Given the description of an element on the screen output the (x, y) to click on. 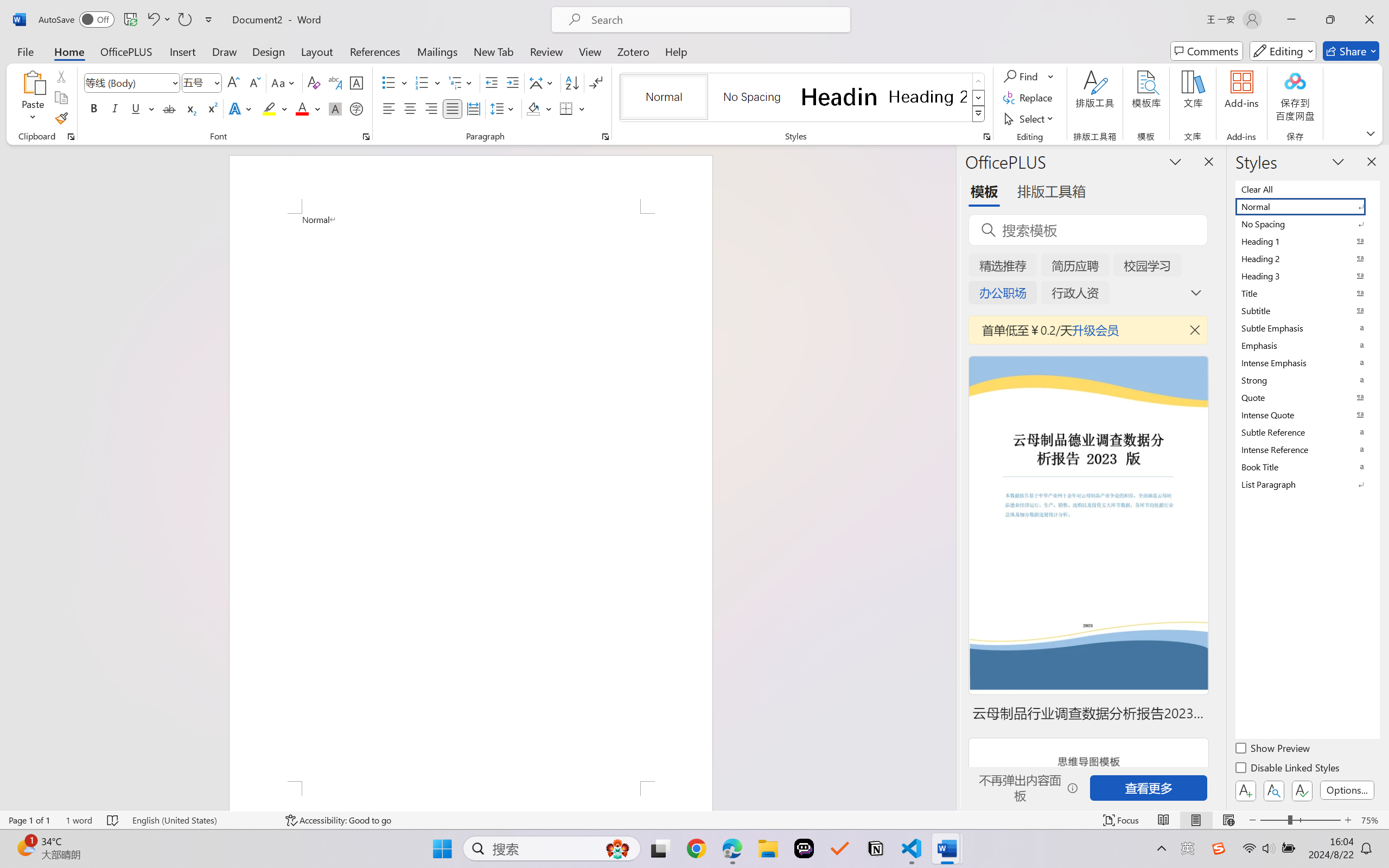
Shrink Font (253, 82)
Format Painter (60, 118)
AutomationID: QuickStylesGallery (802, 97)
Find (1022, 75)
Character Border (356, 82)
Read Mode (1163, 819)
Normal (1306, 206)
Home (69, 51)
Paste (33, 97)
Comments (1206, 50)
Strikethrough (169, 108)
Row Down (978, 97)
